Given the description of an element on the screen output the (x, y) to click on. 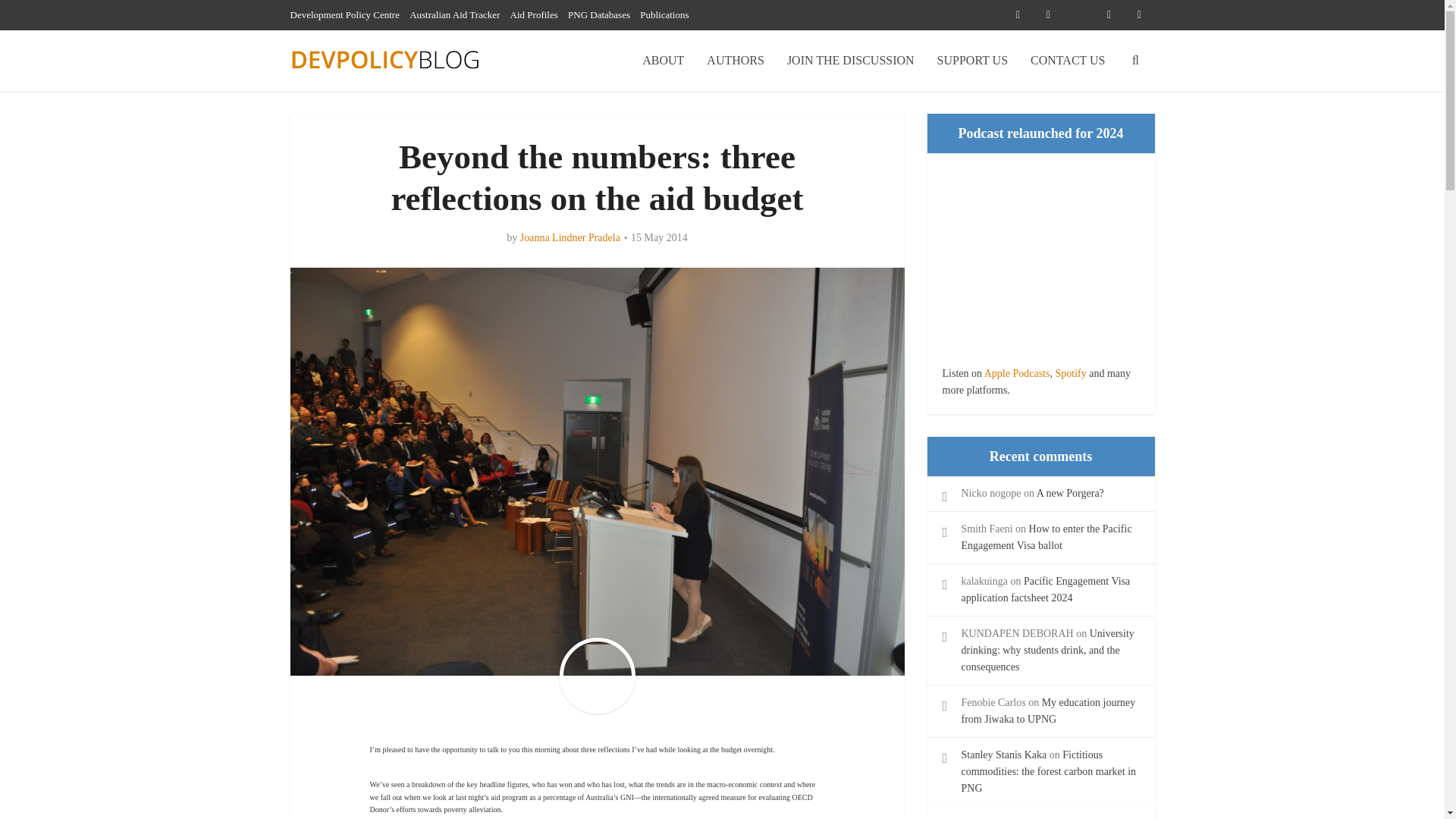
Development Policy Centre (343, 14)
Australian Aid Tracker (454, 14)
Aid Profiles (534, 14)
SUPPORT US (972, 60)
JOIN THE DISCUSSION (851, 60)
Publications (664, 14)
PNG Databases (598, 14)
CONTACT US (1067, 60)
Joanna Lindner Pradela (569, 237)
AUTHORS (735, 60)
ABOUT (662, 60)
